Given the description of an element on the screen output the (x, y) to click on. 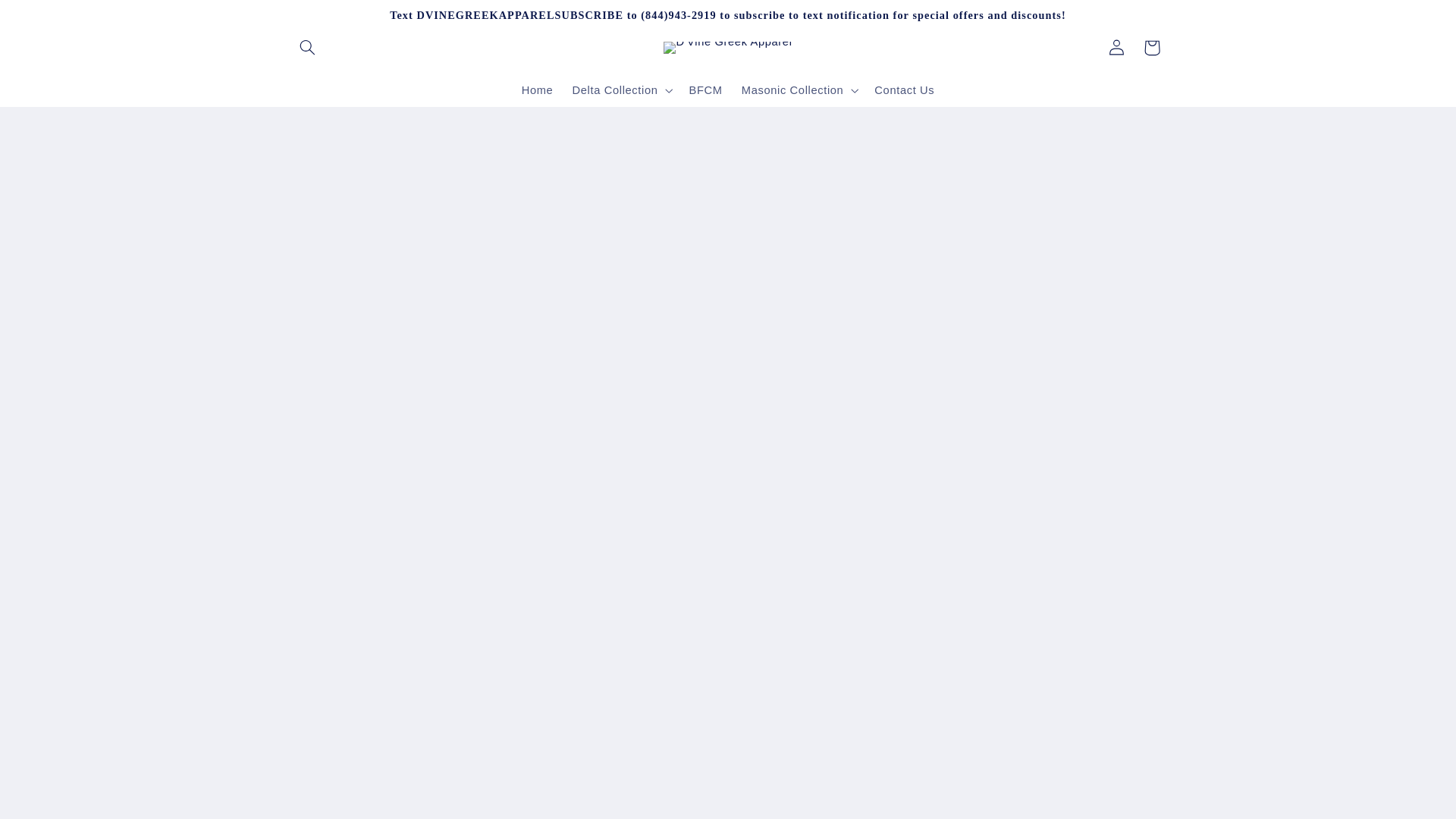
BFCM (705, 90)
Home (537, 90)
Skip to content (48, 18)
Contact Us (903, 90)
